Given the description of an element on the screen output the (x, y) to click on. 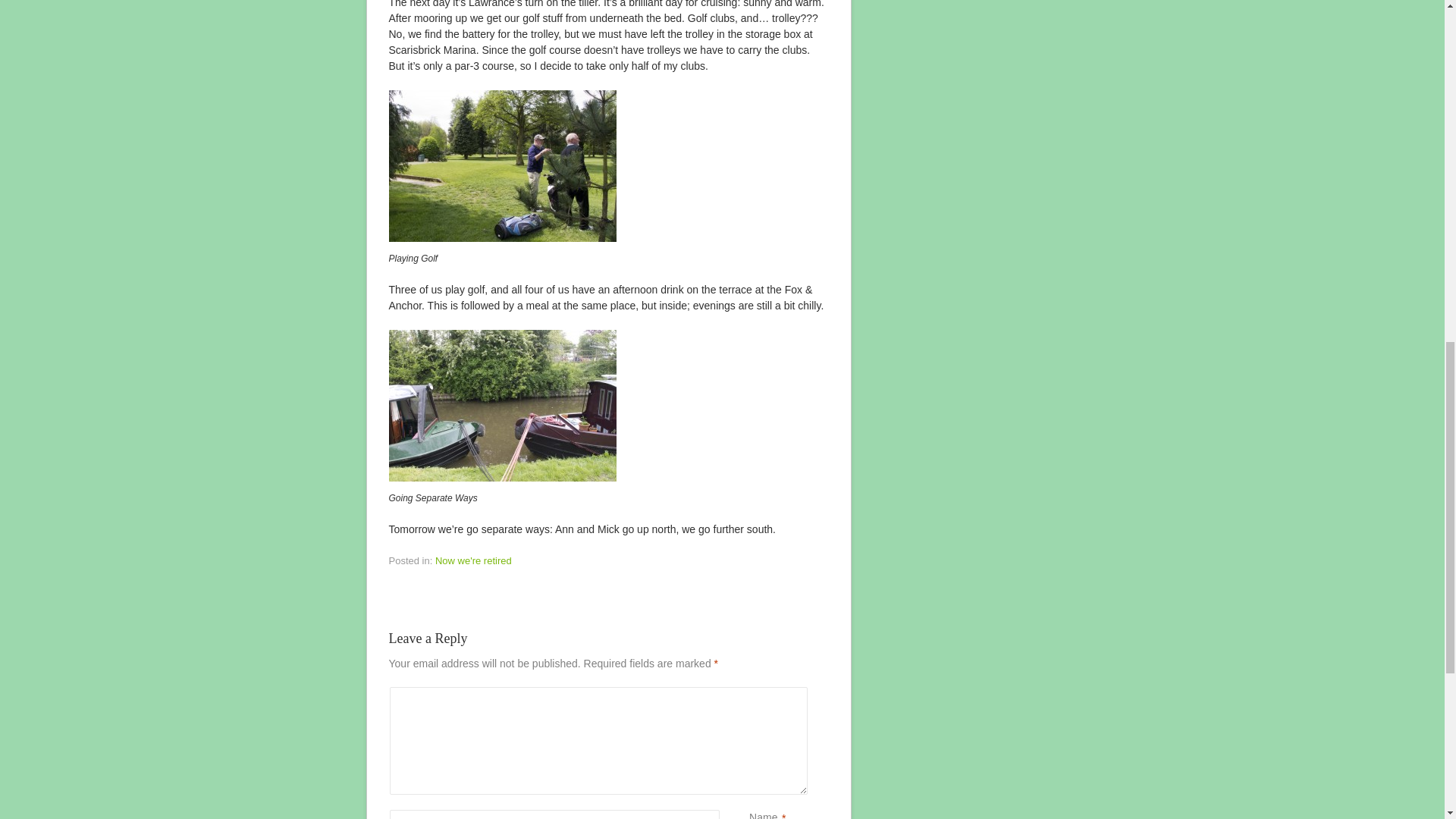
Now we're retired (473, 560)
